Given the description of an element on the screen output the (x, y) to click on. 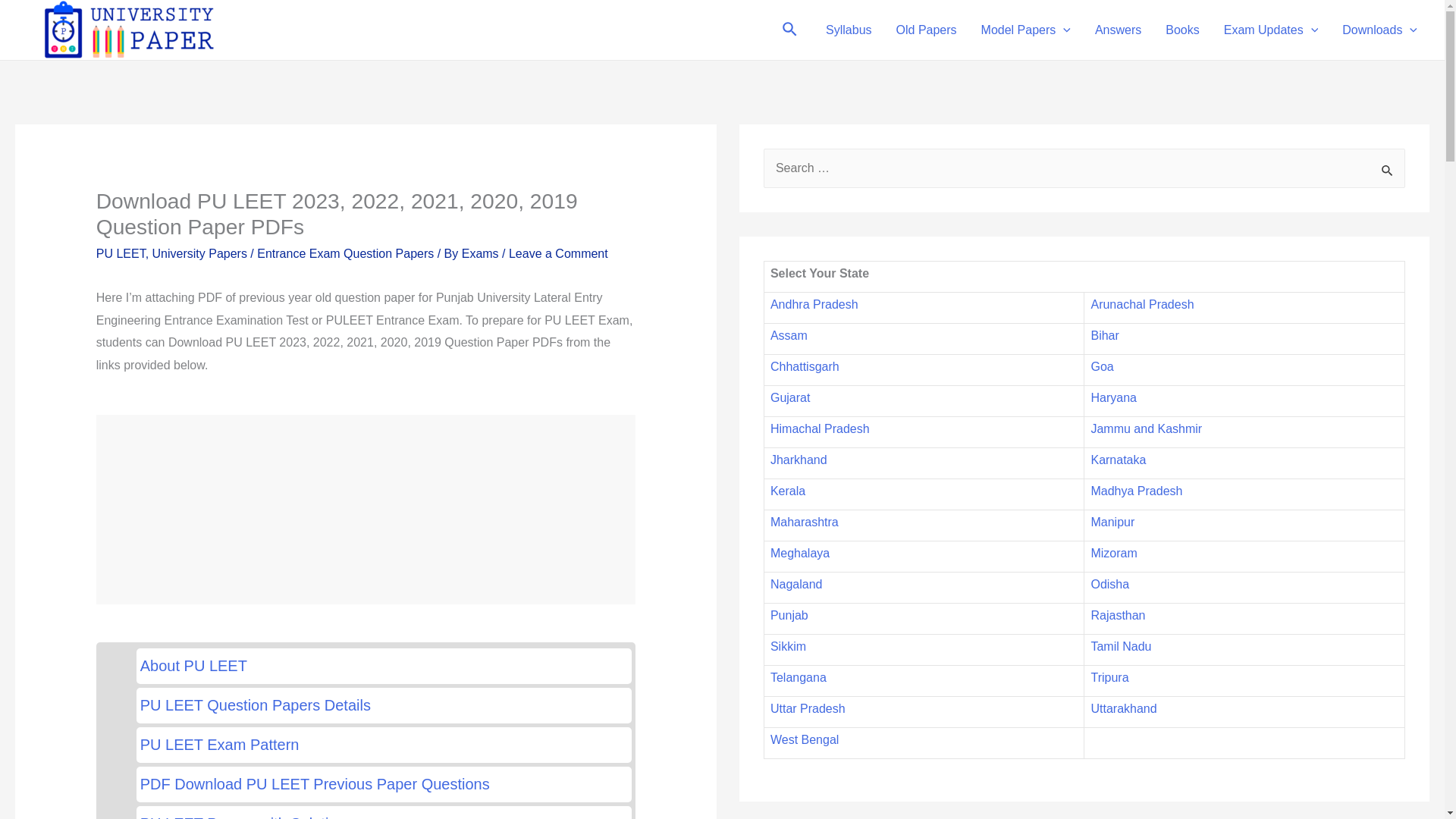
Old Papers (926, 29)
Syllabus (848, 29)
Answers (1118, 29)
Model Papers (1026, 29)
View all posts by Exams (481, 253)
Downloads (1379, 29)
Books (1182, 29)
Exam Updates (1270, 29)
